Given the description of an element on the screen output the (x, y) to click on. 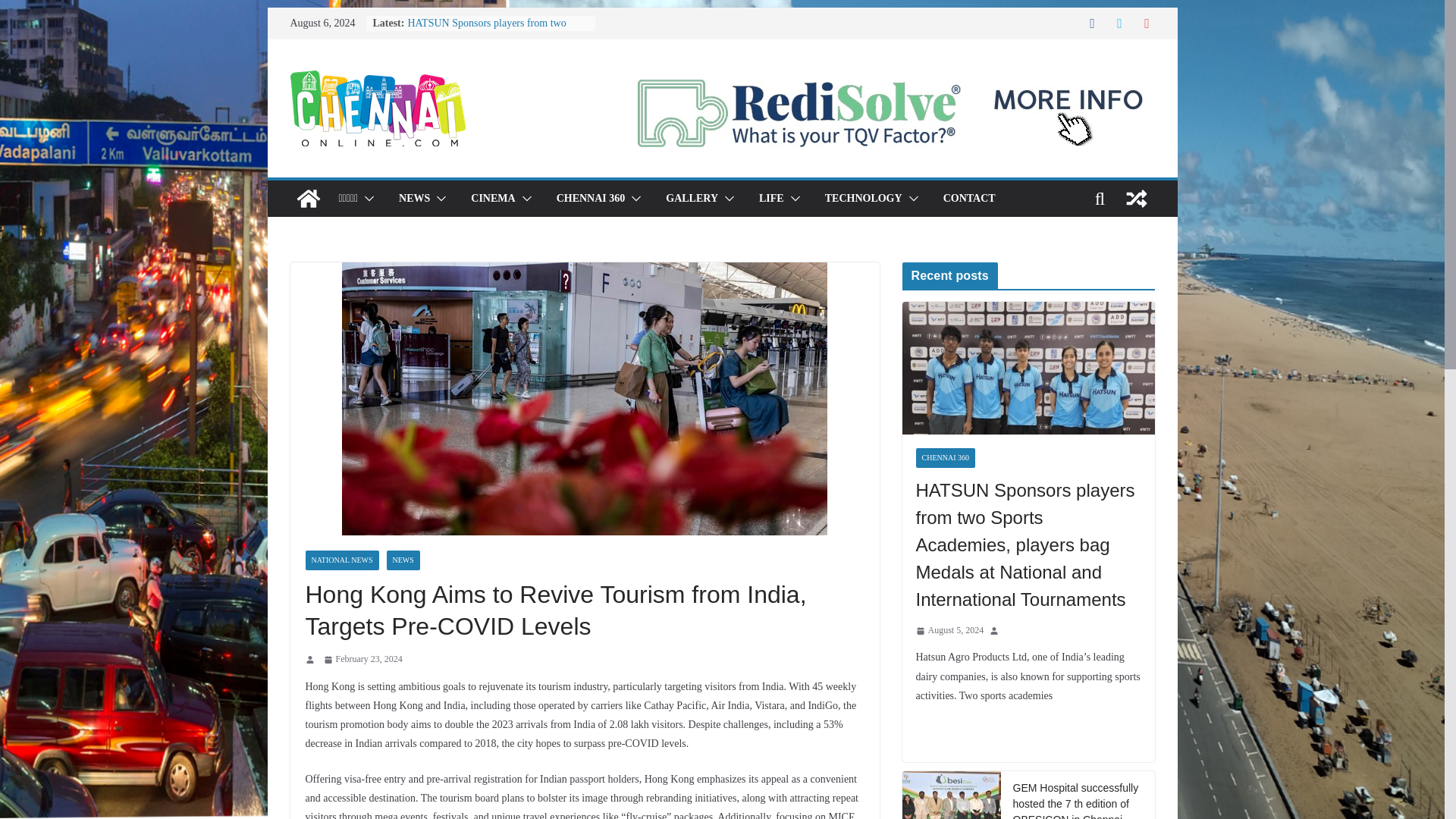
GALLERY (691, 198)
CINEMA (492, 198)
2:06 PM (949, 630)
CHENNAI 360 (591, 198)
Chennaionline (307, 198)
NEWS (413, 198)
View a random post (1136, 198)
6:05 PM (362, 659)
